Given the description of an element on the screen output the (x, y) to click on. 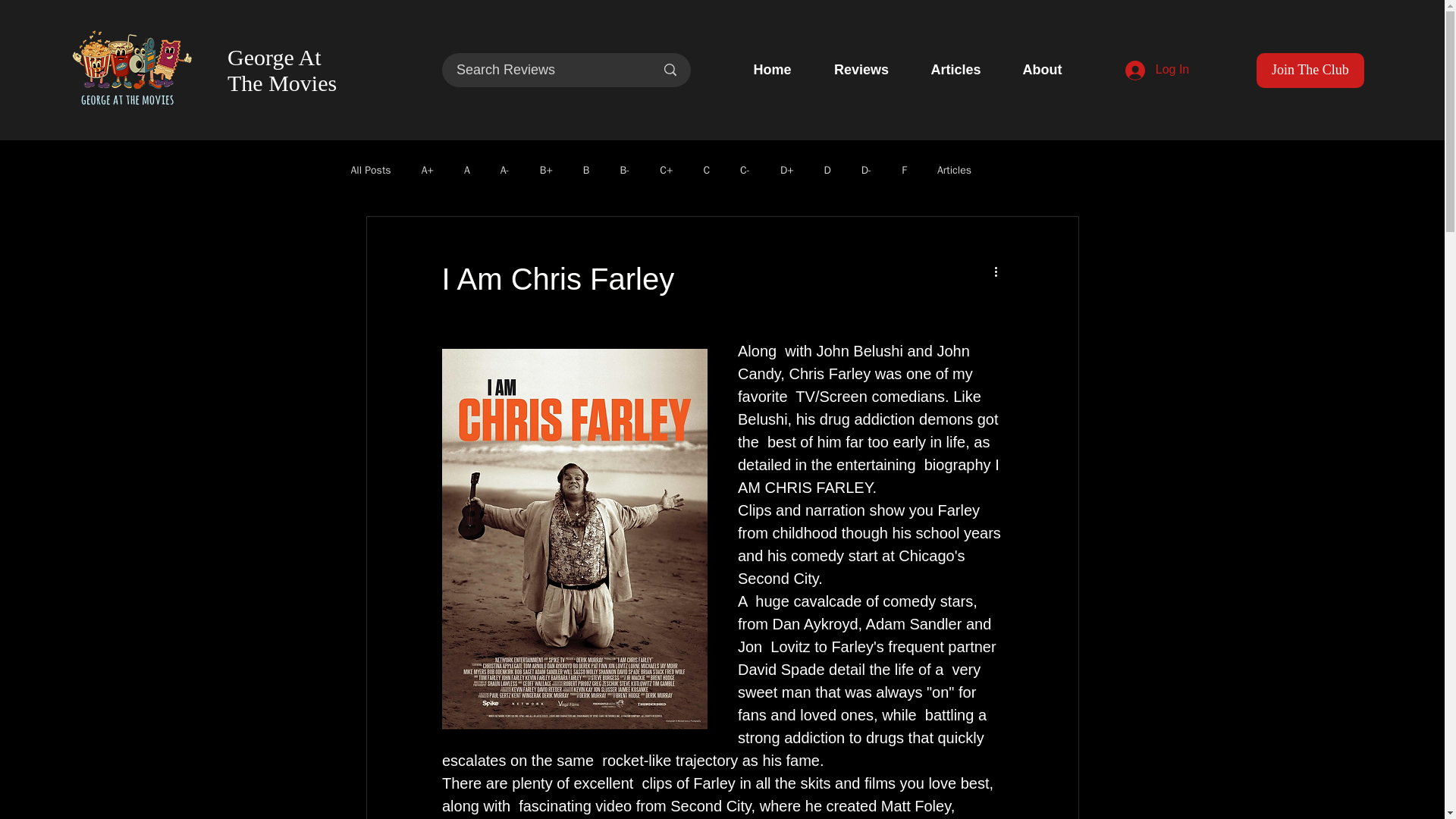
Articles (954, 170)
All Posts (370, 170)
Log In (1157, 70)
Join The Club (1310, 70)
Articles (955, 69)
Reviews (861, 69)
Home (772, 69)
About (1042, 69)
